Given the description of an element on the screen output the (x, y) to click on. 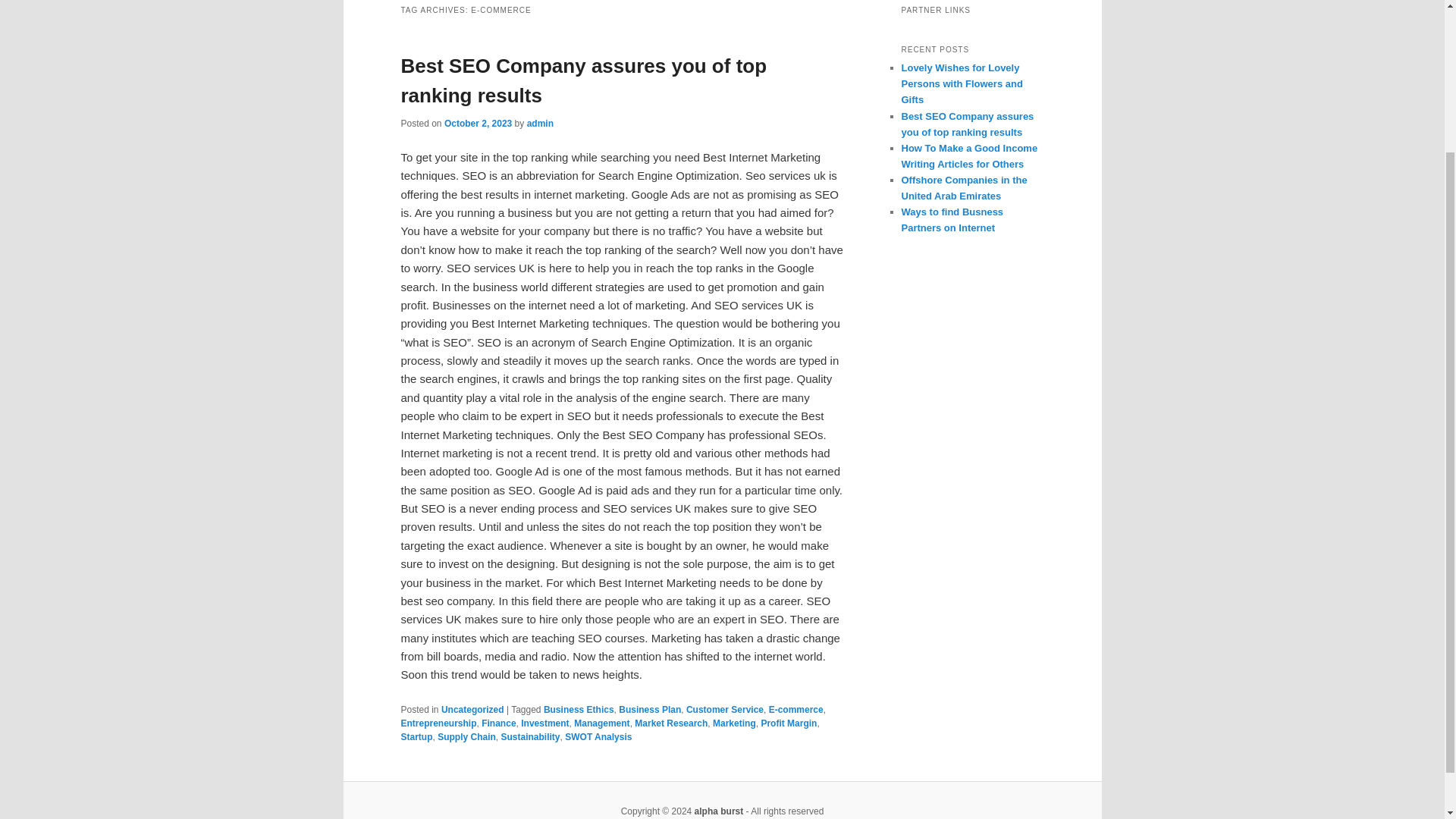
Best SEO Company assures you of top ranking results (967, 123)
October 2, 2023 (478, 122)
Offshore Companies in the United Arab Emirates (963, 187)
Customer Service (723, 709)
alpha burst (719, 810)
Best SEO Company assures you of top ranking results (583, 80)
SWOT Analysis (597, 737)
Sustainability (530, 737)
Business Plan (649, 709)
Marketing (734, 723)
Best SEO Company assures you of top ranking results (967, 123)
How To Make a Good Income Writing Articles for Others (968, 155)
Finance (498, 723)
Profit Margin (788, 723)
Lovely Wishes for Lovely Persons with Flowers and Gifts (961, 83)
